Given the description of an element on the screen output the (x, y) to click on. 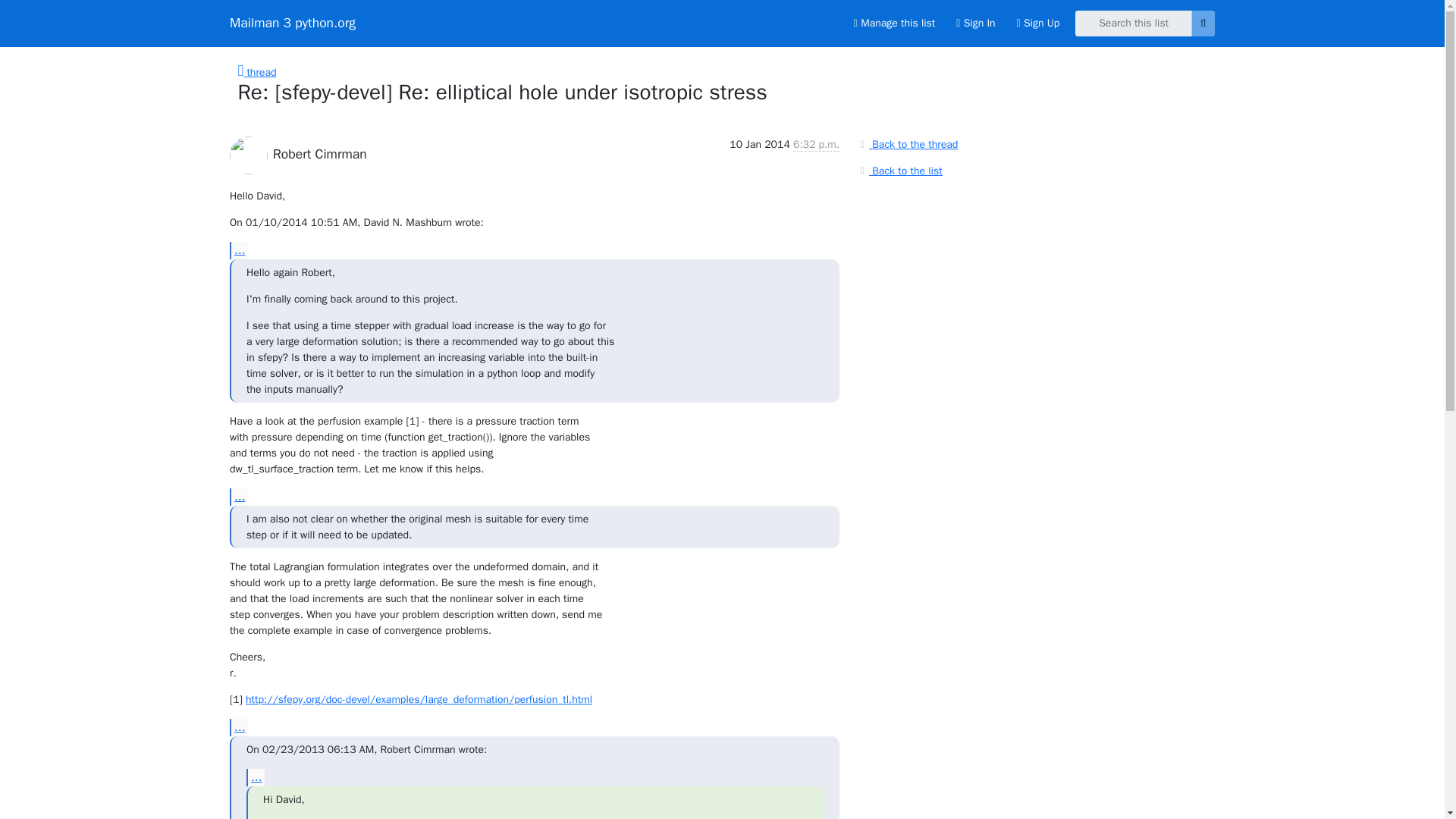
... (238, 727)
Sender's time: Jan. 10, 2014, 2:02 p.m. (816, 144)
Back to the thread (907, 144)
Sign In (975, 22)
thread (257, 72)
Sign Up (1038, 22)
Back to the list (899, 169)
Mailman 3 python.org (292, 23)
Manage this list (893, 22)
... (255, 777)
